Given the description of an element on the screen output the (x, y) to click on. 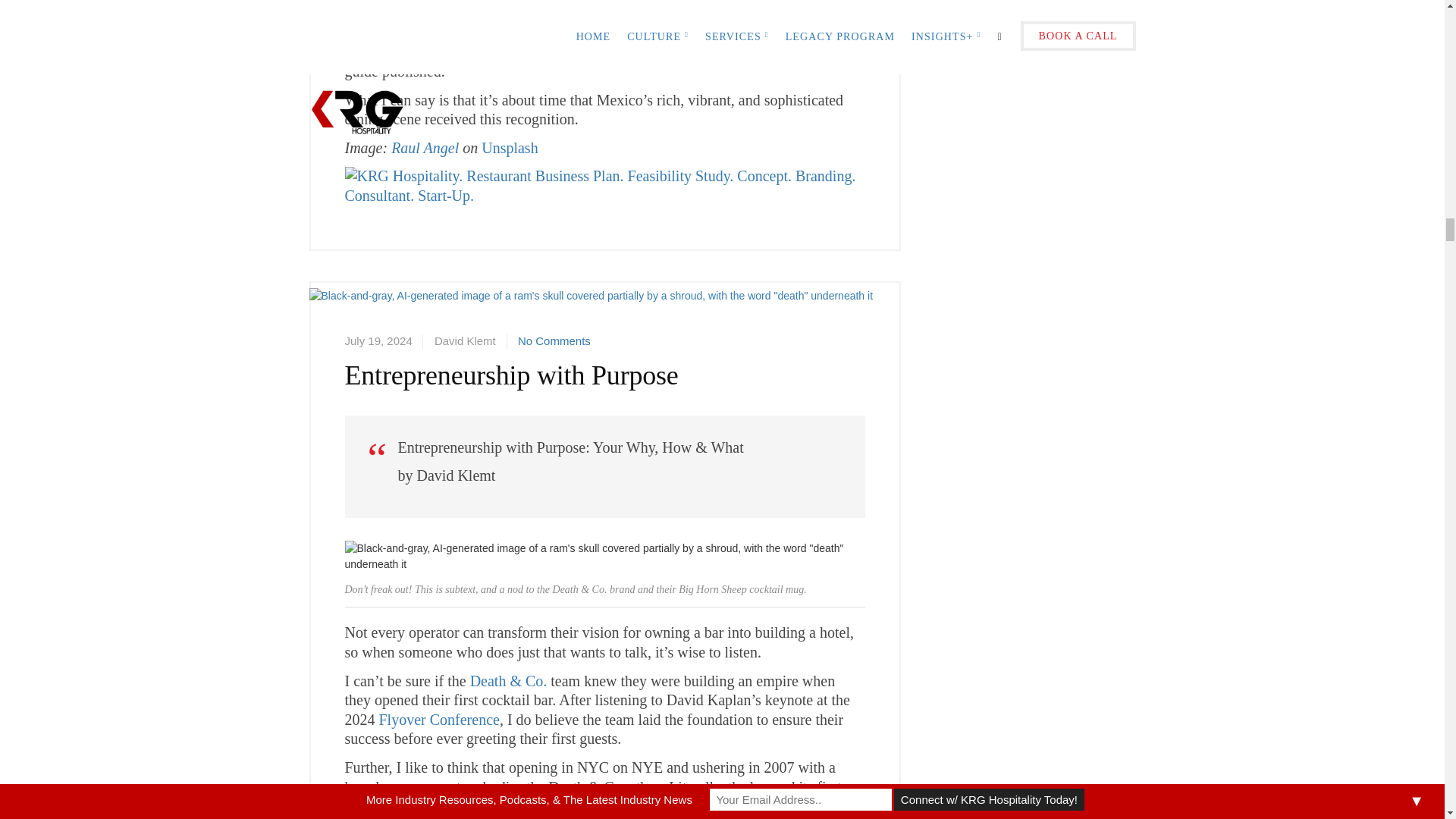
Entrepreneurship with Purpose (590, 324)
